Given the description of an element on the screen output the (x, y) to click on. 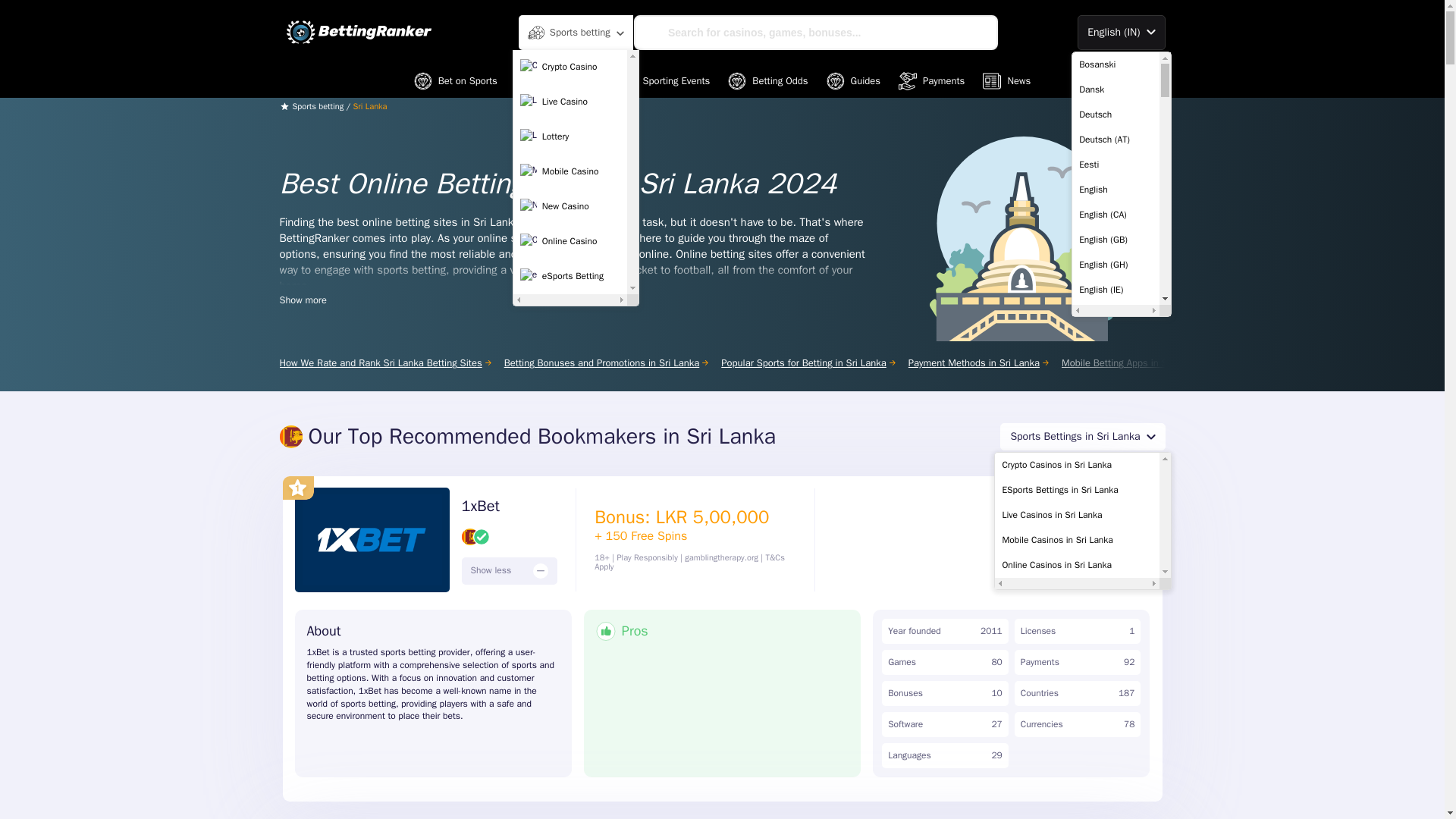
Deutsch (1115, 113)
Live Casino (570, 102)
Crypto Casino (570, 67)
Lottery (570, 136)
eSports Betting (570, 276)
New Casino (570, 206)
Online Casino (570, 241)
Hrvatski (1115, 810)
Bosanski (1115, 63)
English (1115, 189)
